Given the description of an element on the screen output the (x, y) to click on. 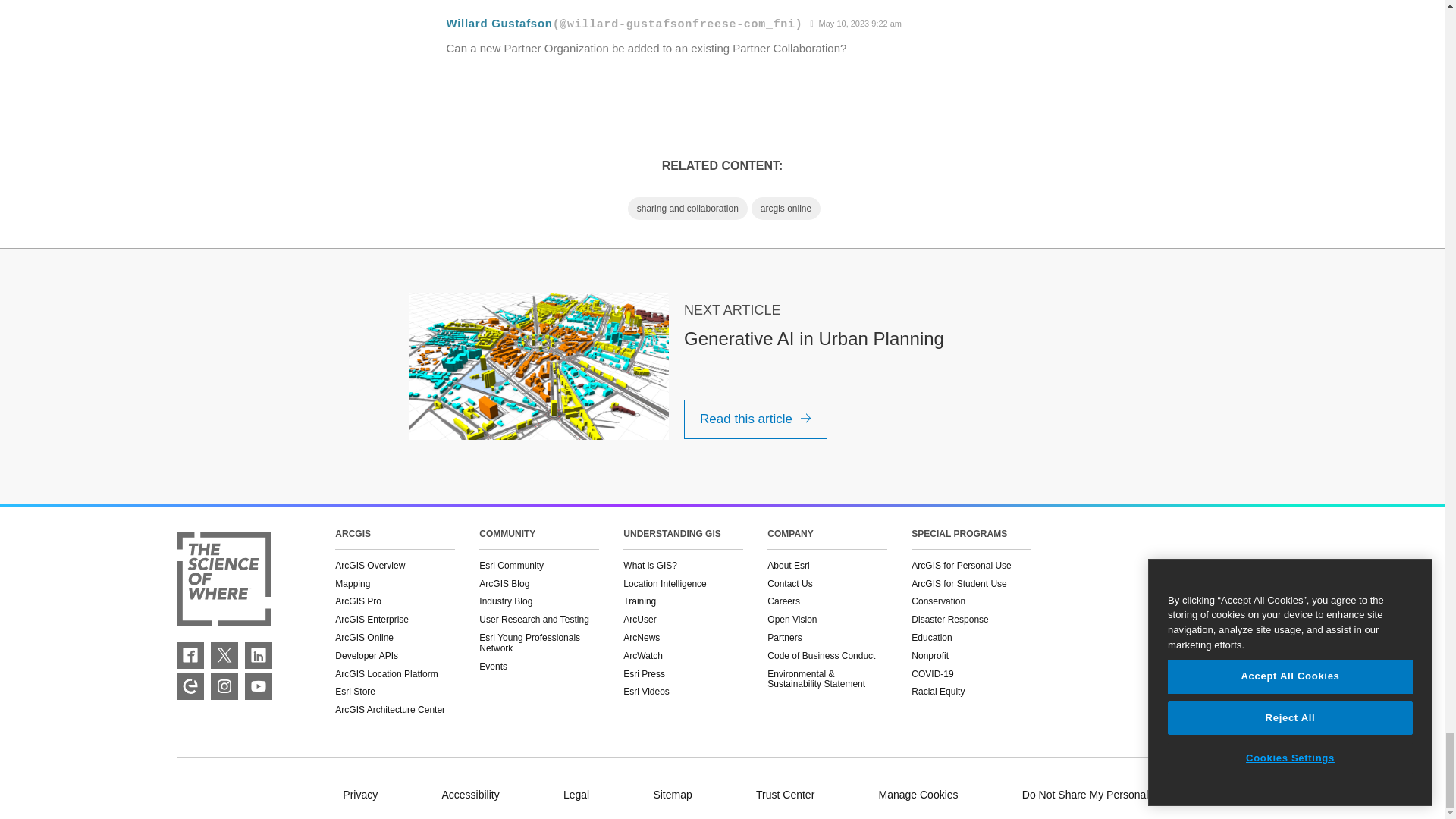
FacebookFacebook (189, 655)
Esri CommunityEsri Community (189, 686)
Facebook (189, 655)
Twitter (224, 655)
Instagram (224, 686)
TwitterTwitter (224, 655)
More about Esri and the Science of Where (223, 580)
LinkedIn (257, 655)
LinkedInLinkedIn (257, 655)
InstagramInstagram (224, 686)
Esri Community (189, 686)
May 10, 2023 9:22 am (855, 23)
